Given the description of an element on the screen output the (x, y) to click on. 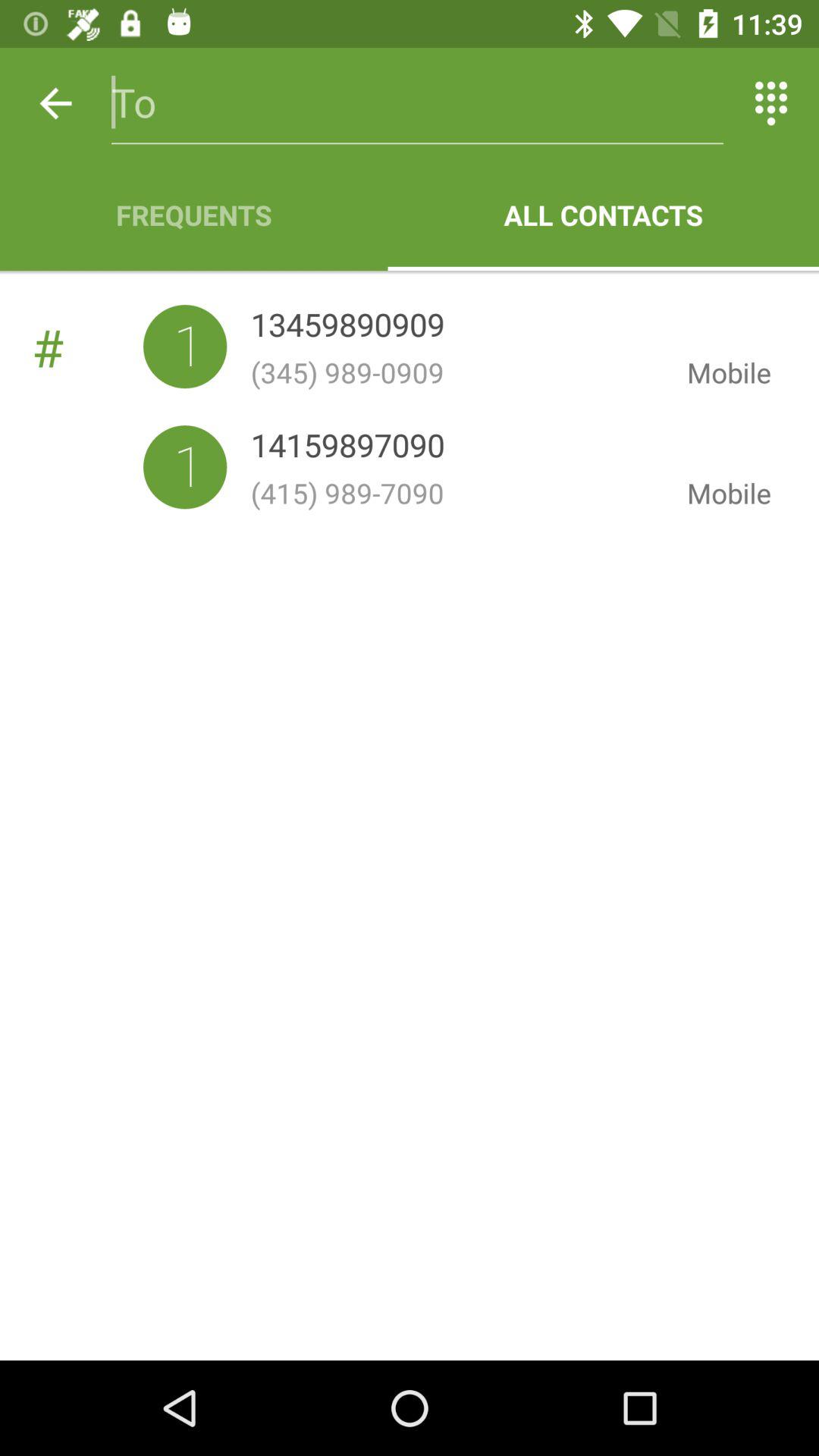
jump to the 13459890909 (347, 327)
